Given the description of an element on the screen output the (x, y) to click on. 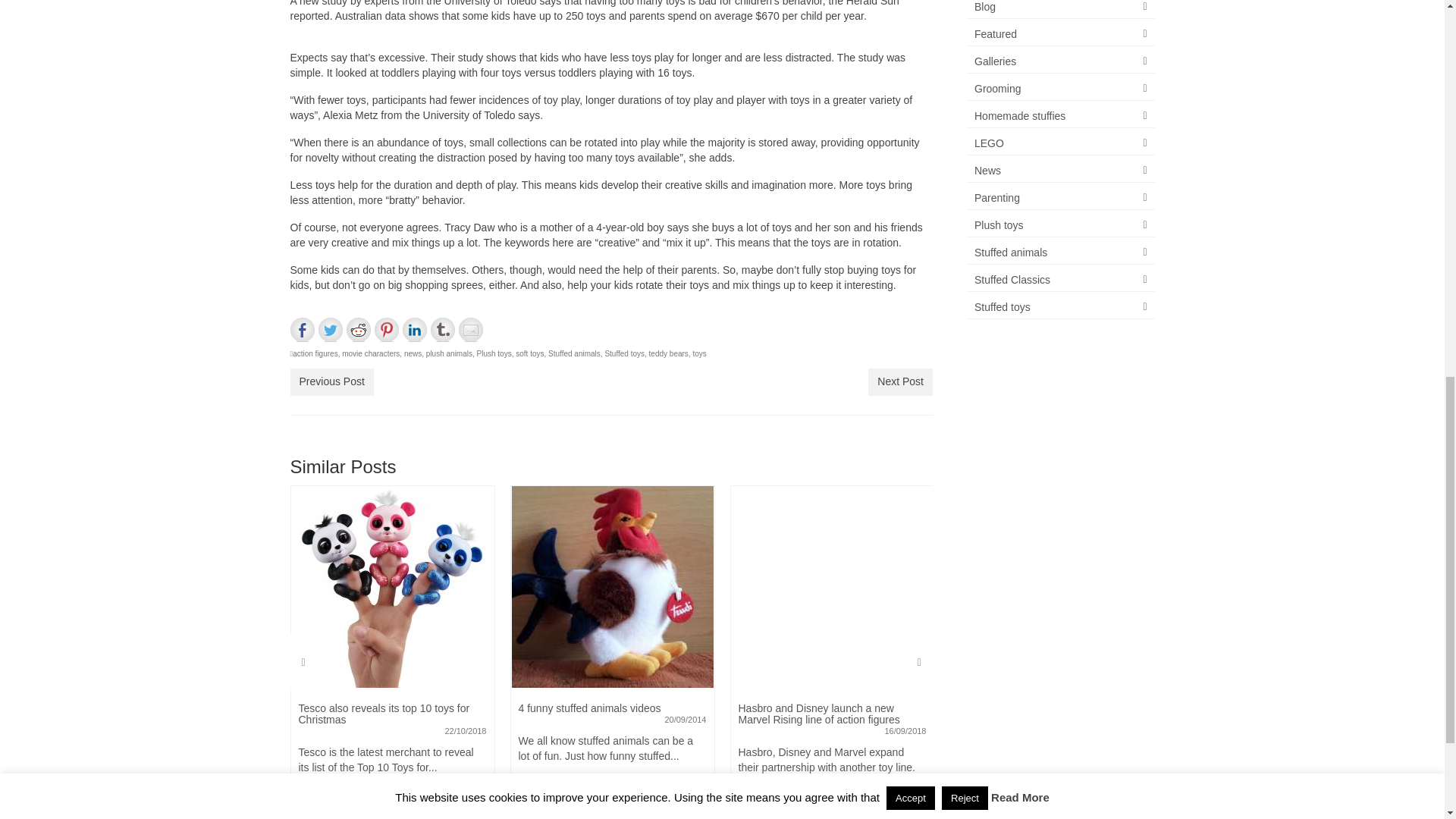
Share on Linkedin (413, 329)
Share on Facebook (301, 329)
Share on tumblr (442, 329)
Pin it with Pinterest (386, 329)
Share on Twitter (330, 329)
Share on Reddit (357, 329)
